Given the description of an element on the screen output the (x, y) to click on. 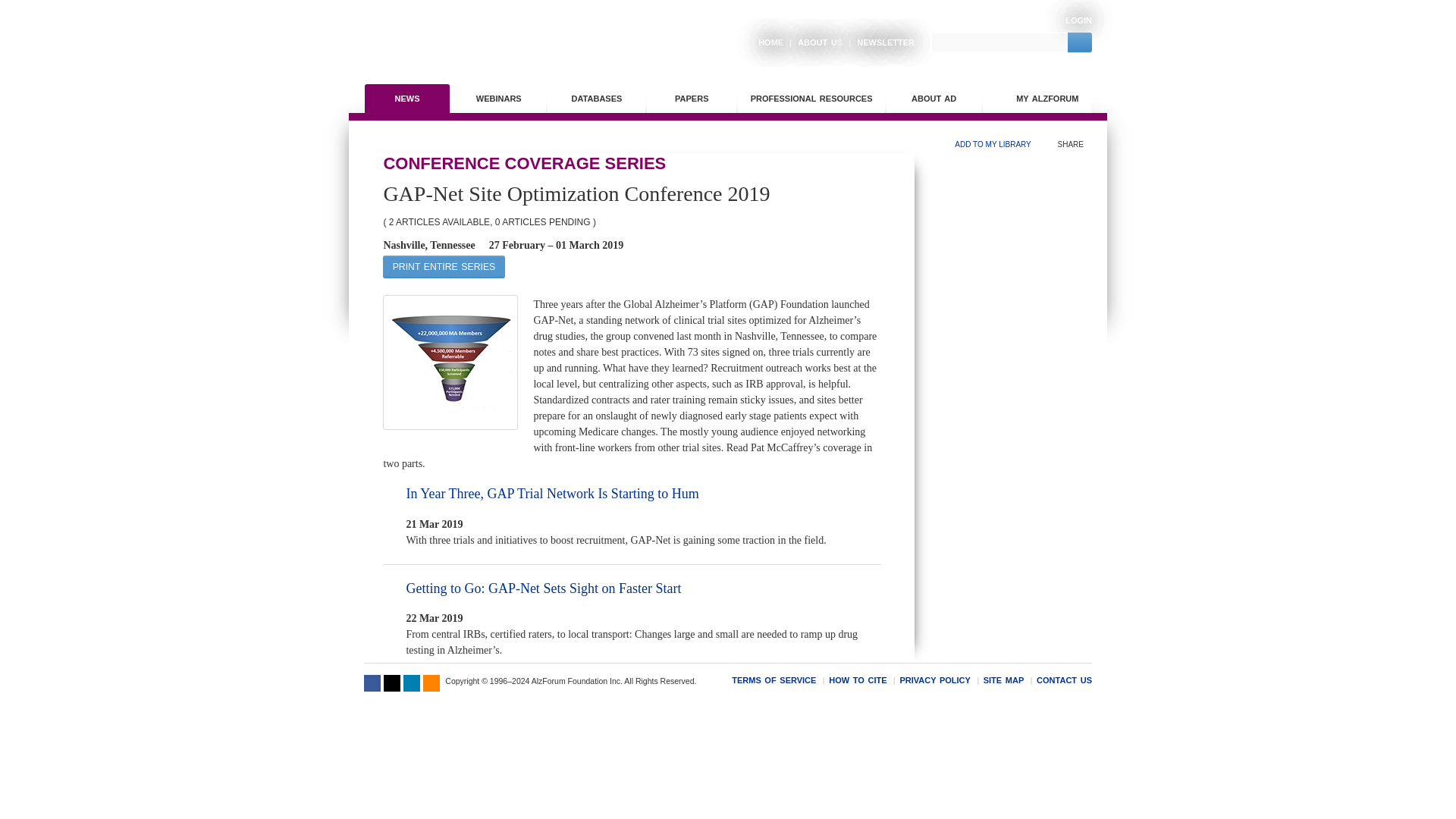
Go (1079, 42)
PRINT ENTIRE SERIES (442, 265)
WEBINARS (498, 98)
PRINT ENTIRE SERIES (442, 267)
The Landing page for All News (407, 98)
ABOUT US (815, 41)
LOGIN (1078, 20)
ADD TO MY ALZFORUM (393, 588)
NEWS (407, 98)
Home (463, 38)
